Given the description of an element on the screen output the (x, y) to click on. 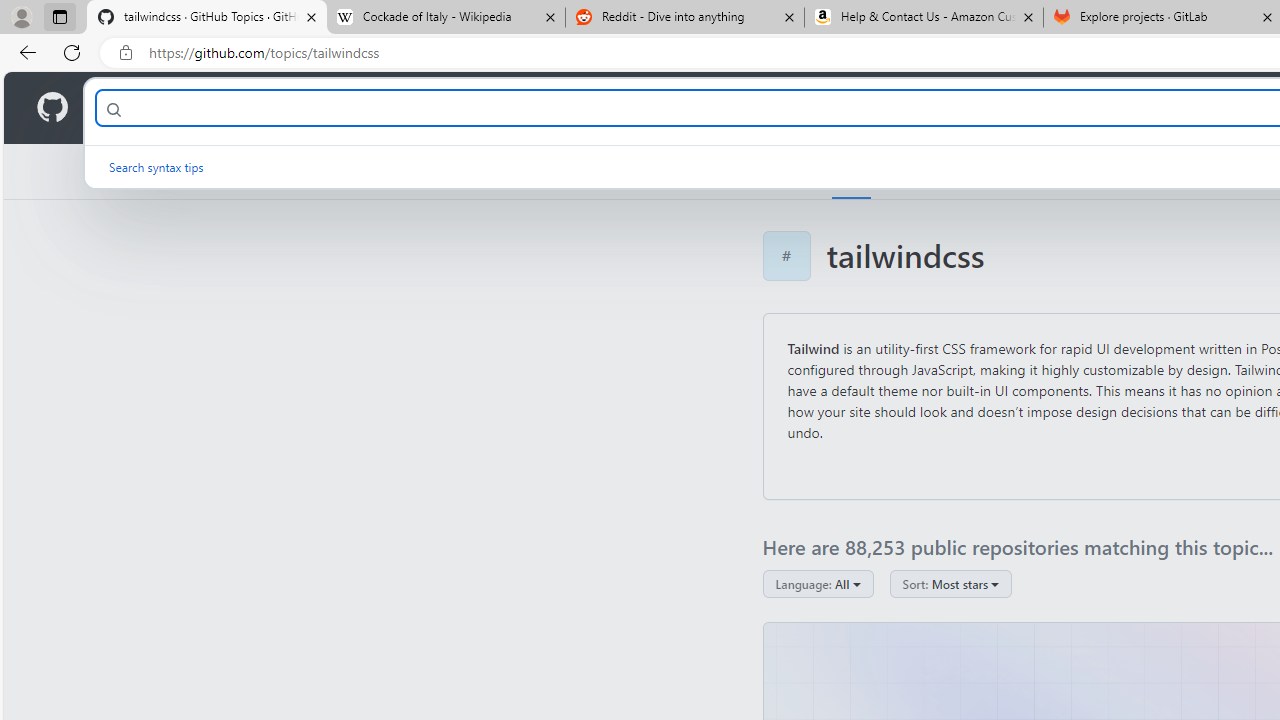
Enterprise (563, 107)
Resources (330, 107)
Open Source (446, 107)
Open Source (446, 107)
Sort: Most stars (950, 584)
Enterprise (563, 107)
Cockade of Italy - Wikipedia (445, 17)
Pricing (649, 107)
Language: All (817, 584)
